Given the description of an element on the screen output the (x, y) to click on. 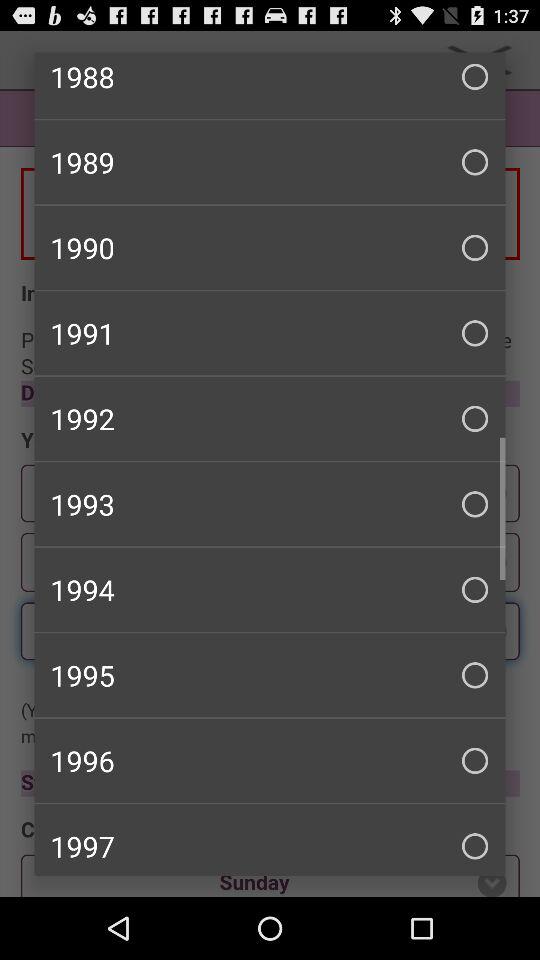
swipe until 1994 item (269, 589)
